Given the description of an element on the screen output the (x, y) to click on. 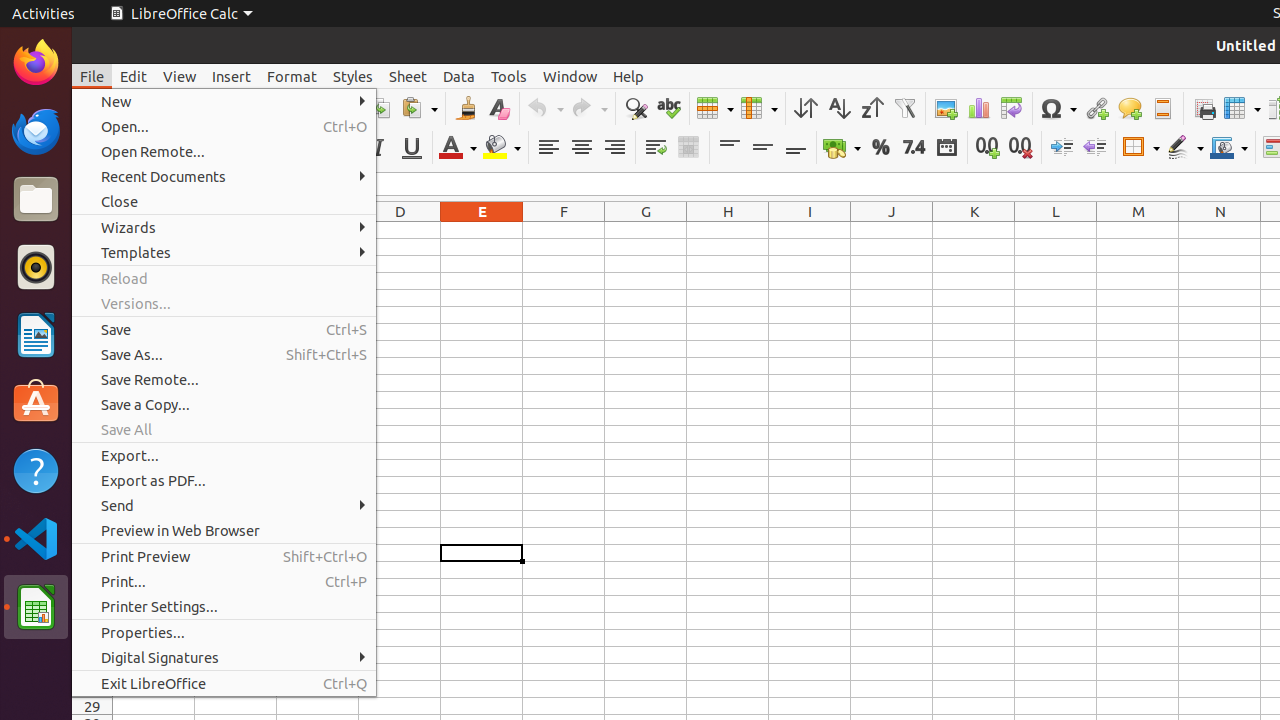
Close Element type: menu-item (224, 201)
Print Area Element type: push-button (1203, 108)
Help Element type: menu (628, 76)
Window Element type: menu (570, 76)
H1 Element type: table-cell (728, 230)
